Given the description of an element on the screen output the (x, y) to click on. 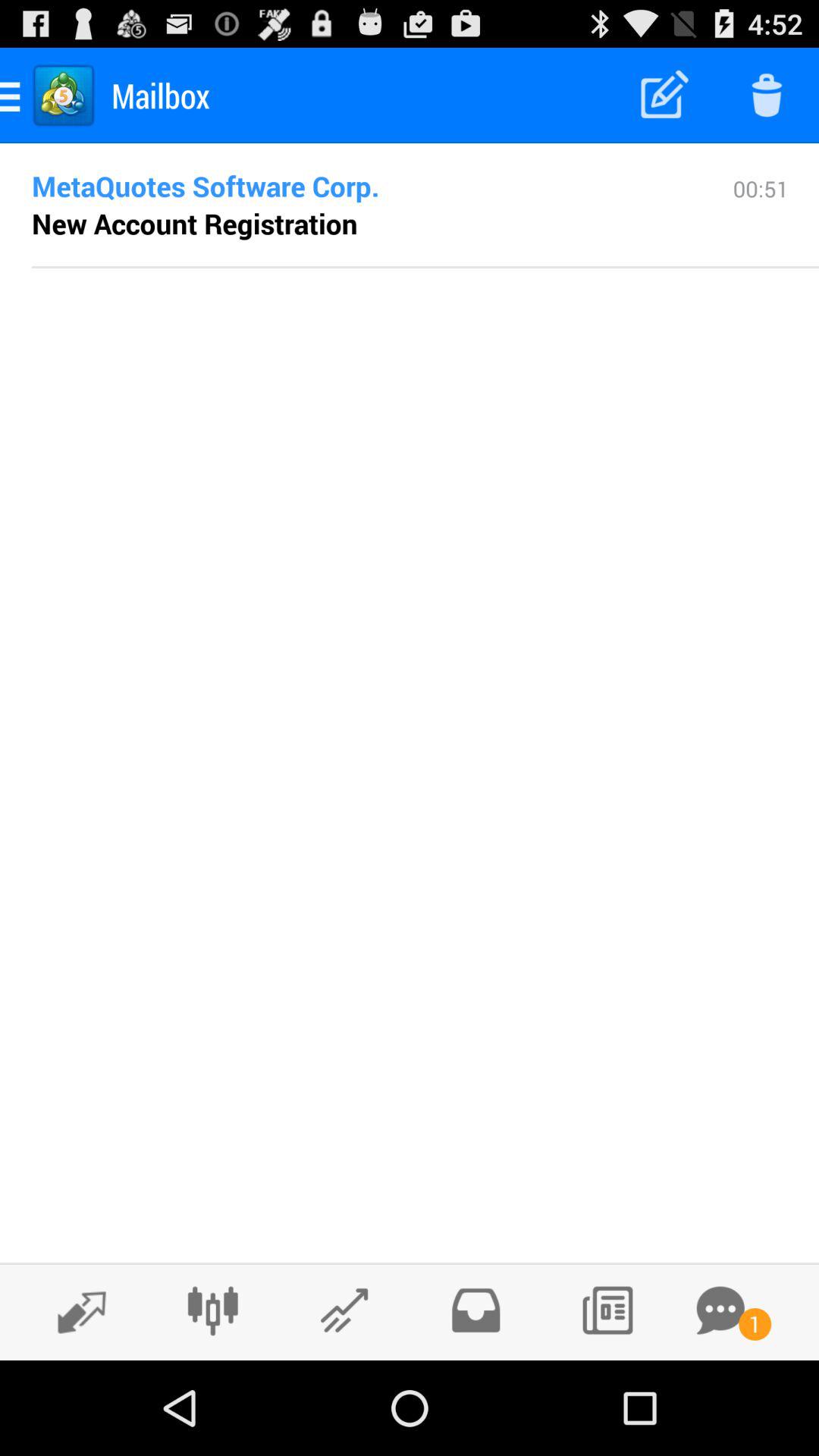
open the icon below the 00:51 item (425, 267)
